Given the description of an element on the screen output the (x, y) to click on. 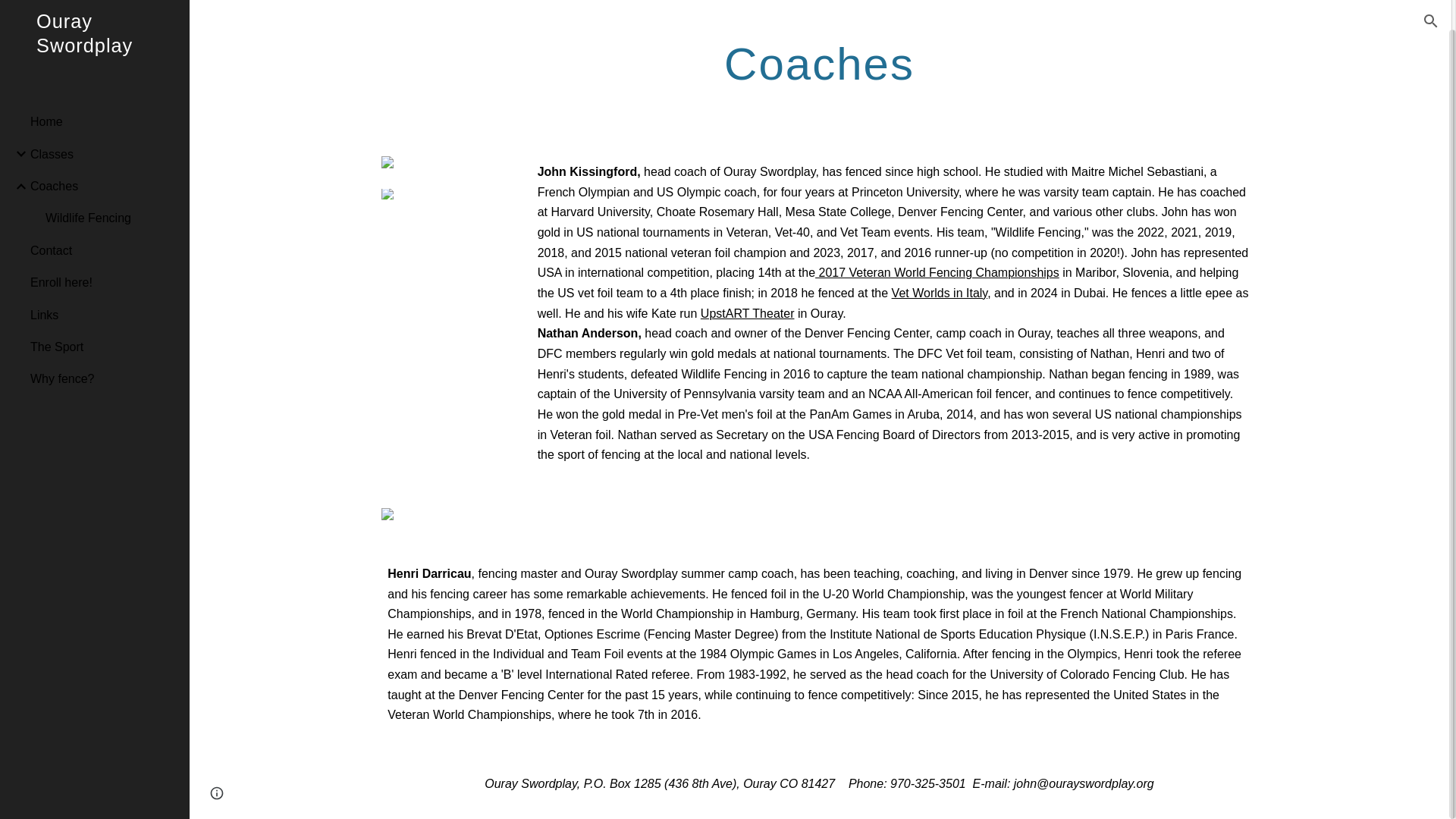
Enroll here! (103, 252)
2017 Veteran World Fencing Championships (937, 272)
Contact (103, 219)
Links (103, 284)
Ouray Swordplay (94, 38)
Coaches (103, 155)
Why fence? (103, 348)
The Sport (103, 316)
Home (103, 91)
UpstART Theater (747, 313)
Wildlife Fencing (111, 187)
Classes (103, 123)
Vet Worlds in Italy (939, 292)
